Given the description of an element on the screen output the (x, y) to click on. 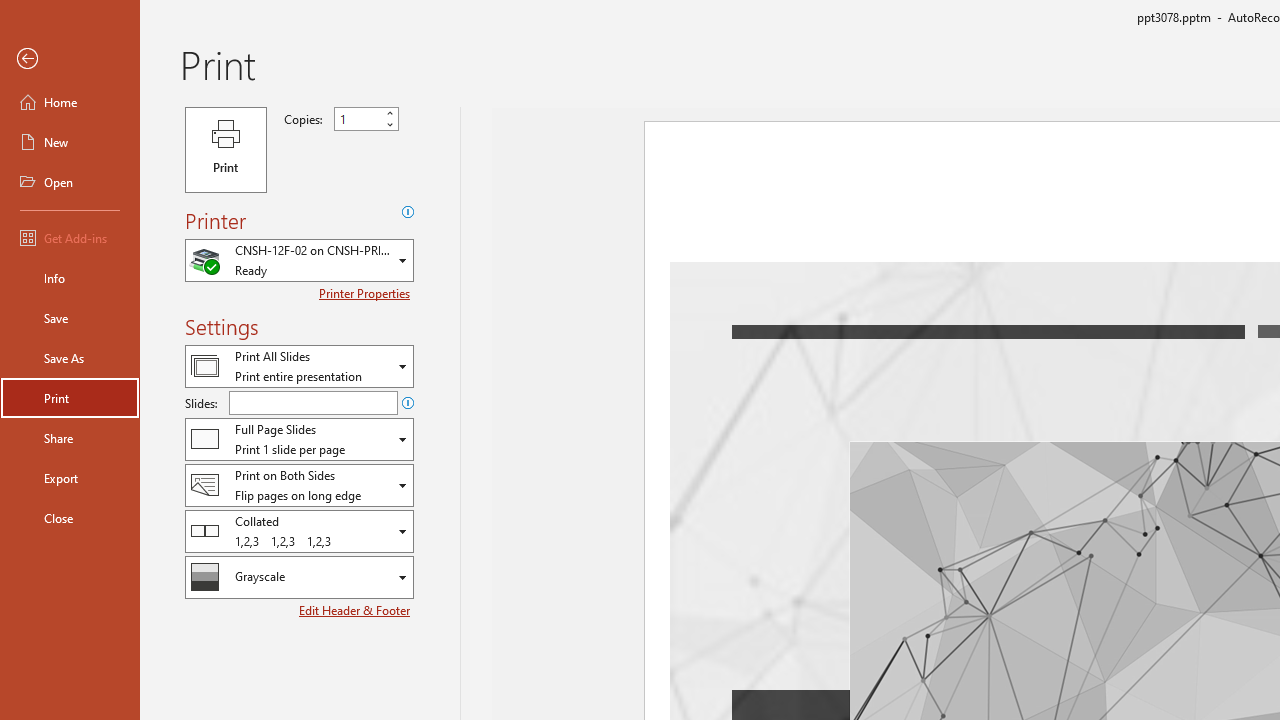
Slides (313, 402)
Which Printer (299, 260)
Print What (299, 366)
Collation (299, 530)
Back (69, 59)
New (69, 141)
Export (69, 477)
